Given the description of an element on the screen output the (x, y) to click on. 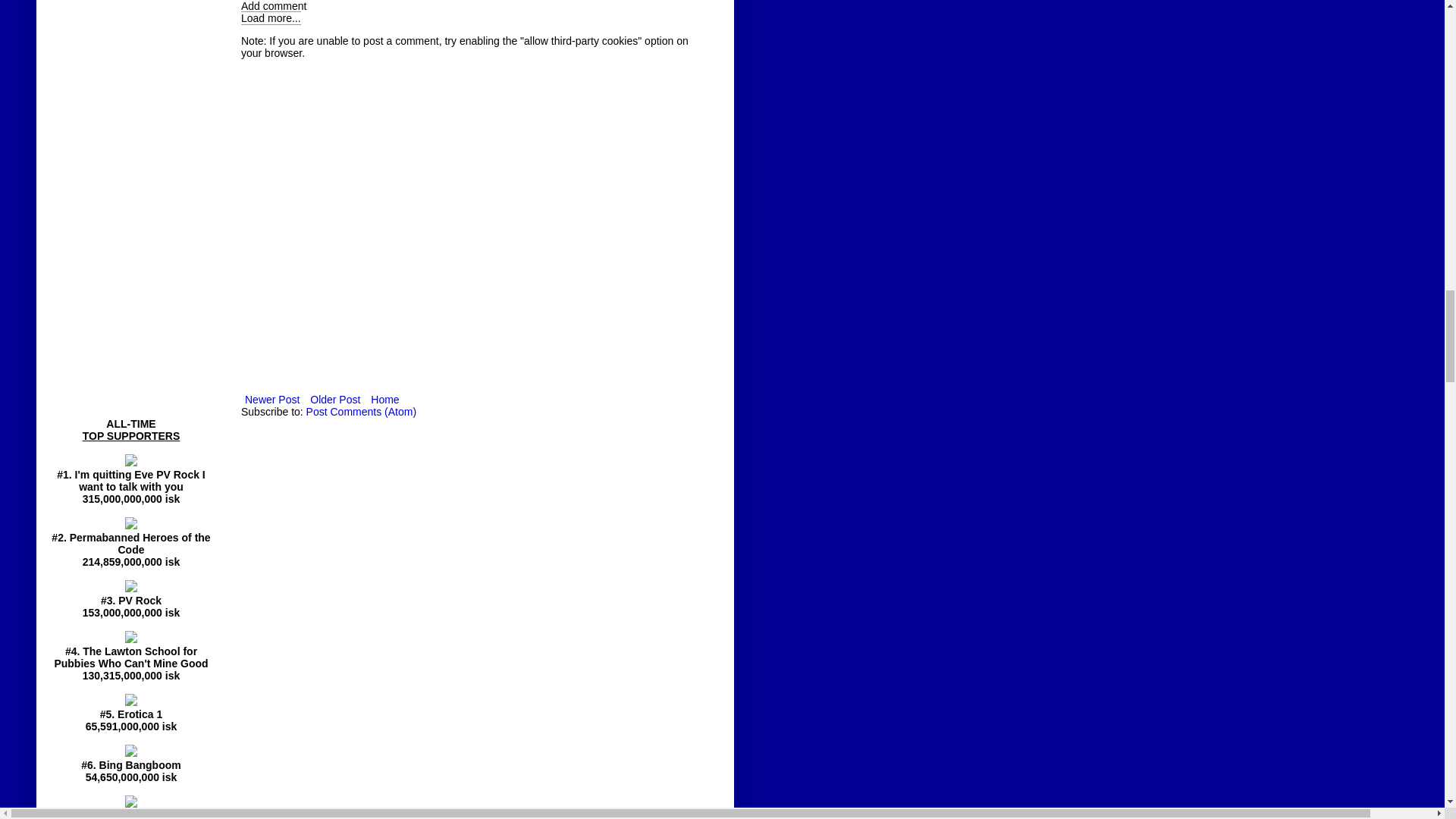
Newer Post (271, 399)
Older Post (334, 399)
